Given the description of an element on the screen output the (x, y) to click on. 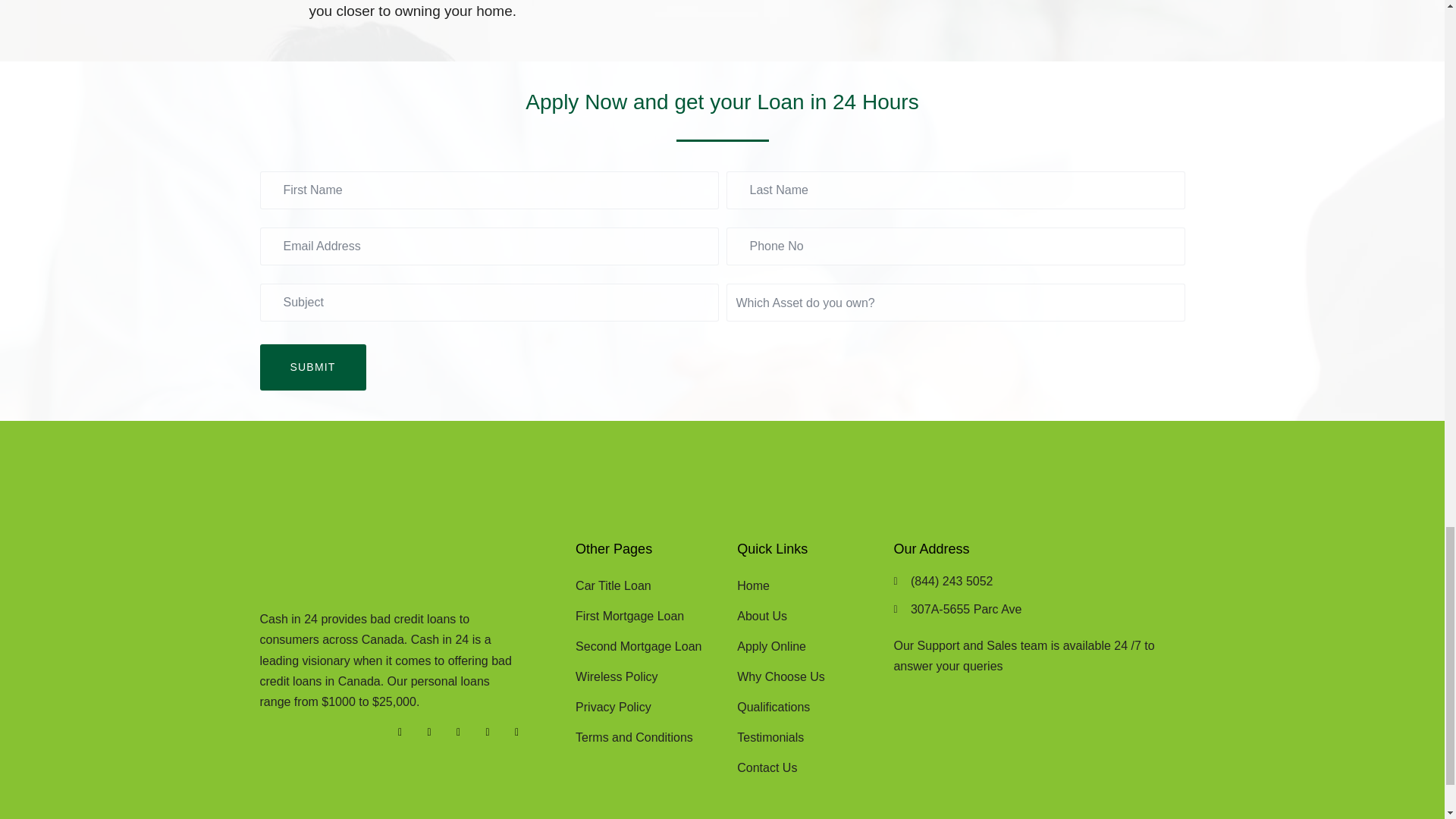
Submit (312, 366)
